Given the description of an element on the screen output the (x, y) to click on. 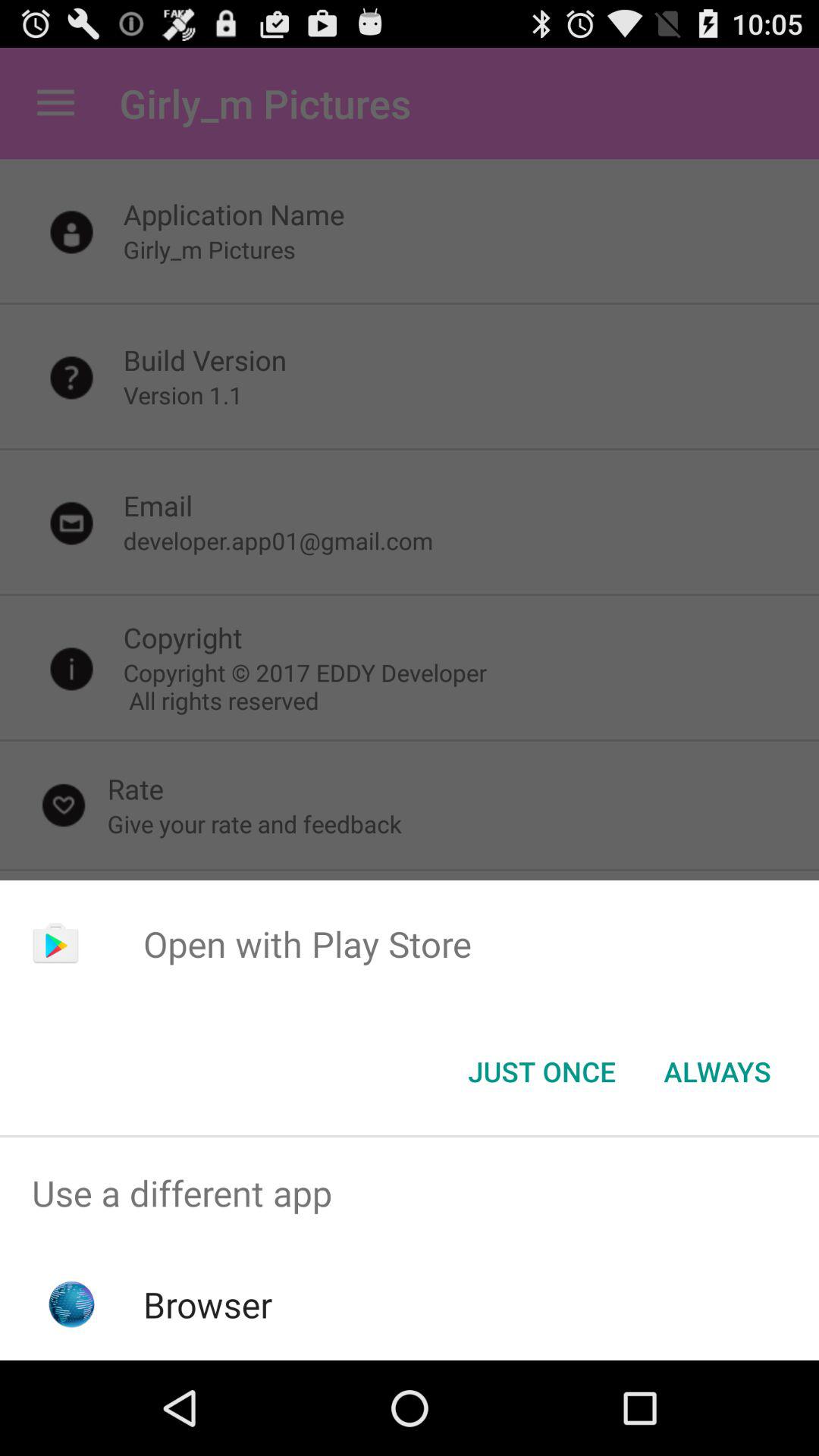
click the always button (717, 1071)
